Given the description of an element on the screen output the (x, y) to click on. 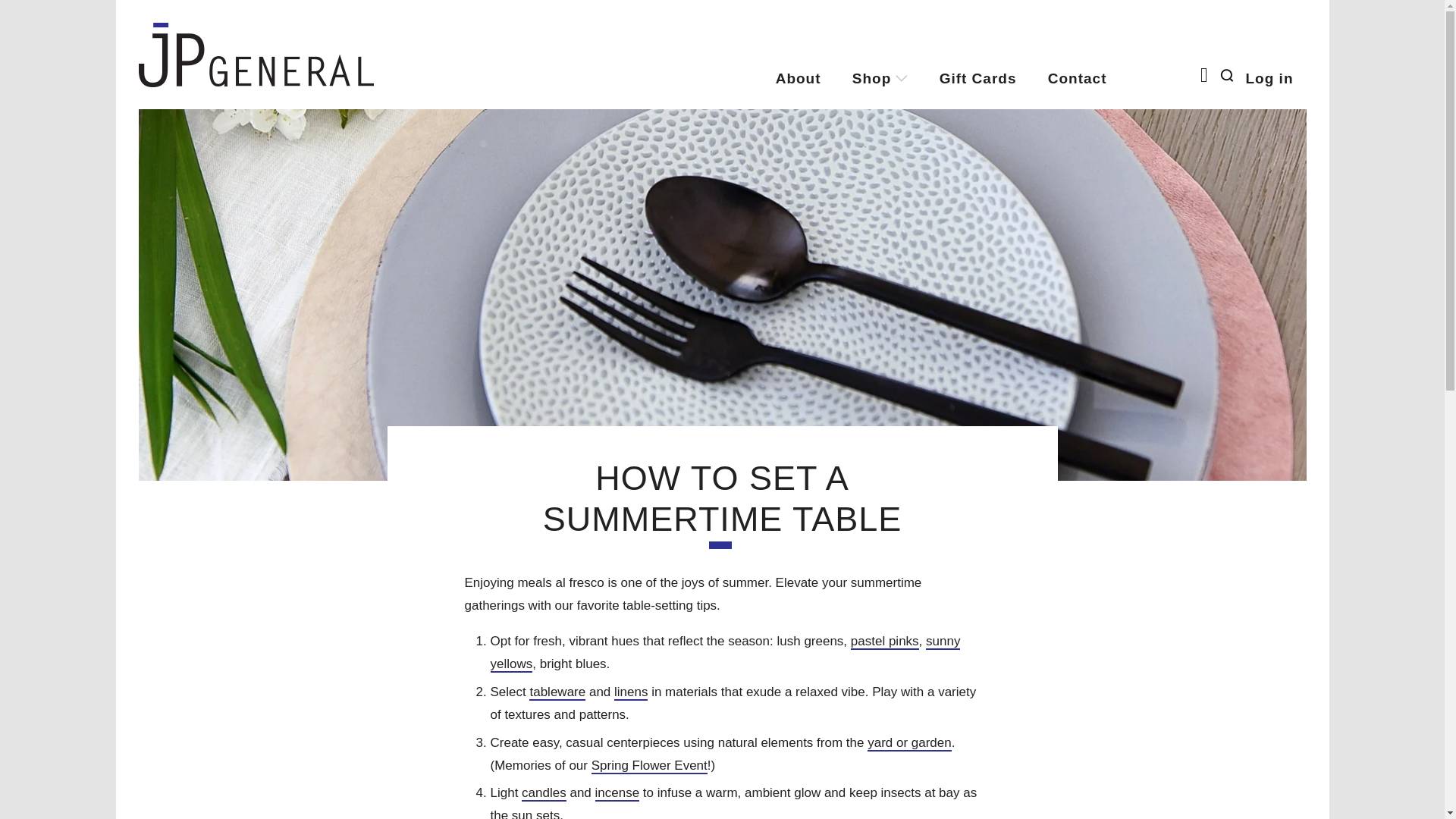
SPEZZATO ROUND PLACEMAT (884, 641)
 OUTDOOR CITRONELLA COIL - LARGE (617, 793)
 SCREEN PRINT LINEN TEA TOWEL (724, 652)
JP General Daydream Candle (543, 793)
 SECATEUR HAND PRUNER (909, 743)
 ONCE IN A WHILE LUNCHEON NAPKINS - SET OF 4 (630, 692)
JP General Spring Flower Event (649, 765)
 BAMBOO PICNIC PLATES - SET OF 4 (557, 692)
